Given the description of an element on the screen output the (x, y) to click on. 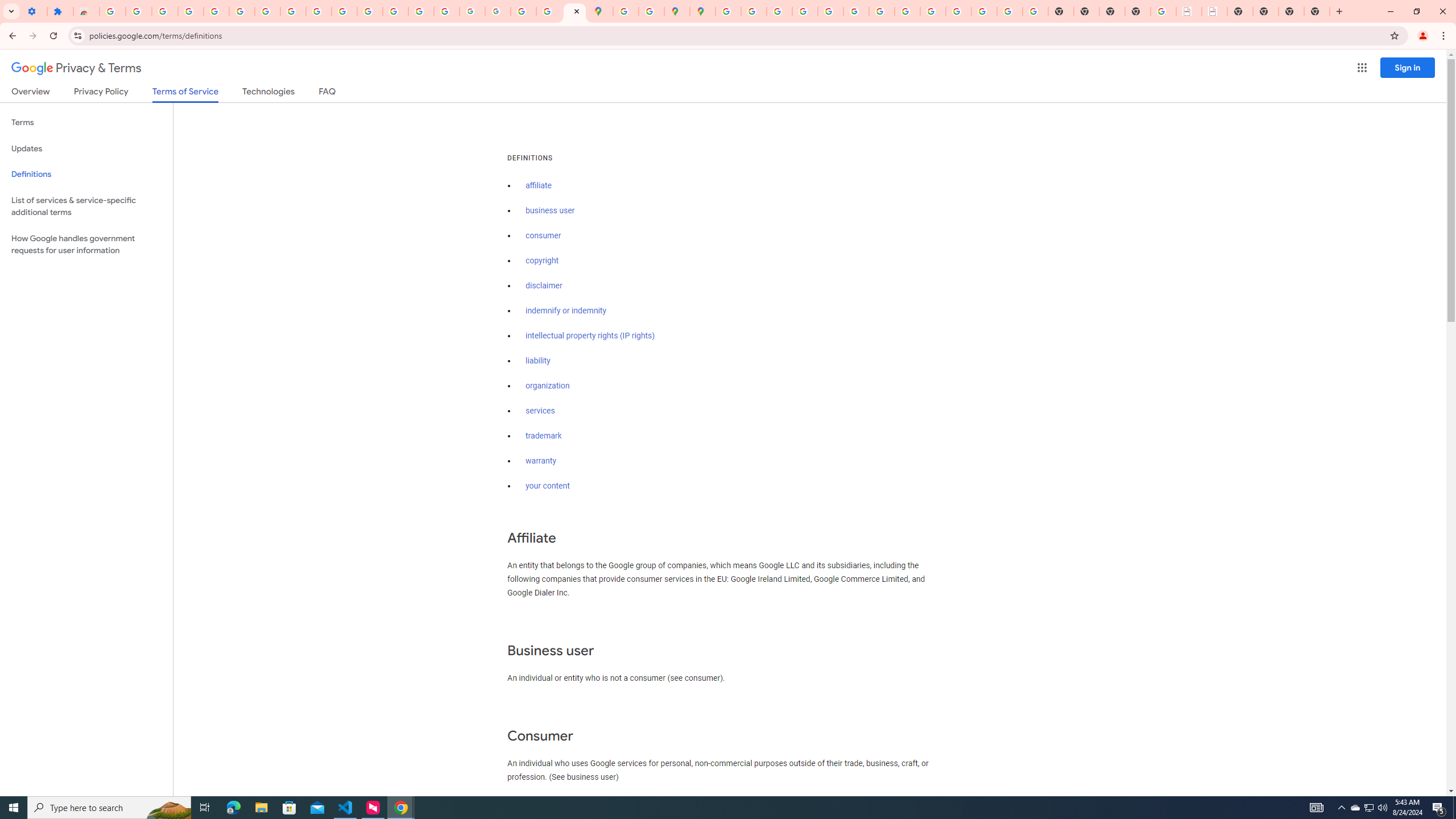
LAAD Defence & Security 2025 | BAE Systems (1188, 11)
Google Account (293, 11)
Safety in Our Products - Google Safety Center (651, 11)
Sign in - Google Accounts (112, 11)
Settings - On startup (34, 11)
How Google handles government requests for user information (86, 244)
New Tab (1316, 11)
https://scholar.google.com/ (369, 11)
